Given the description of an element on the screen output the (x, y) to click on. 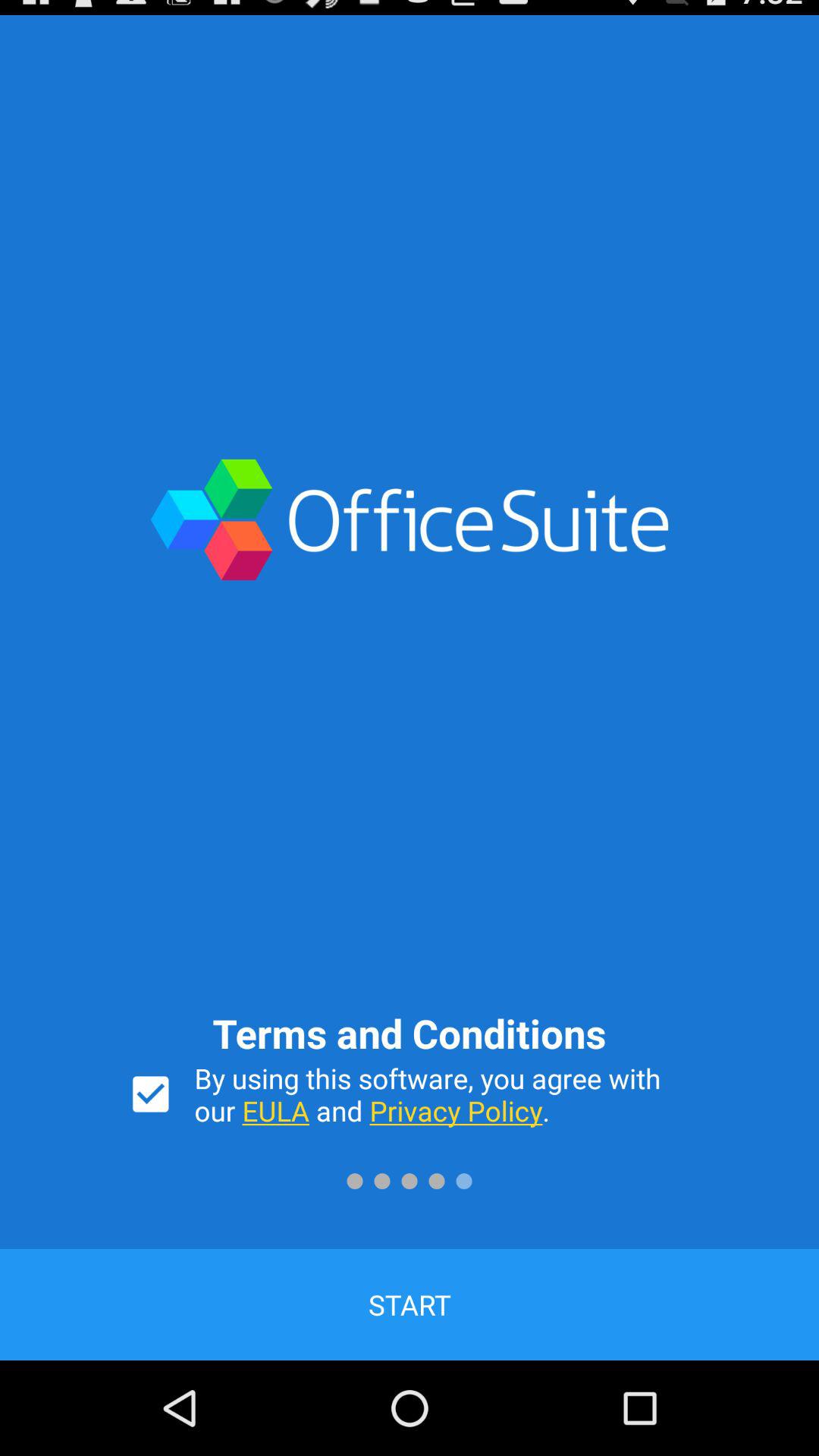
launch the item below the terms and conditions icon (443, 1094)
